Given the description of an element on the screen output the (x, y) to click on. 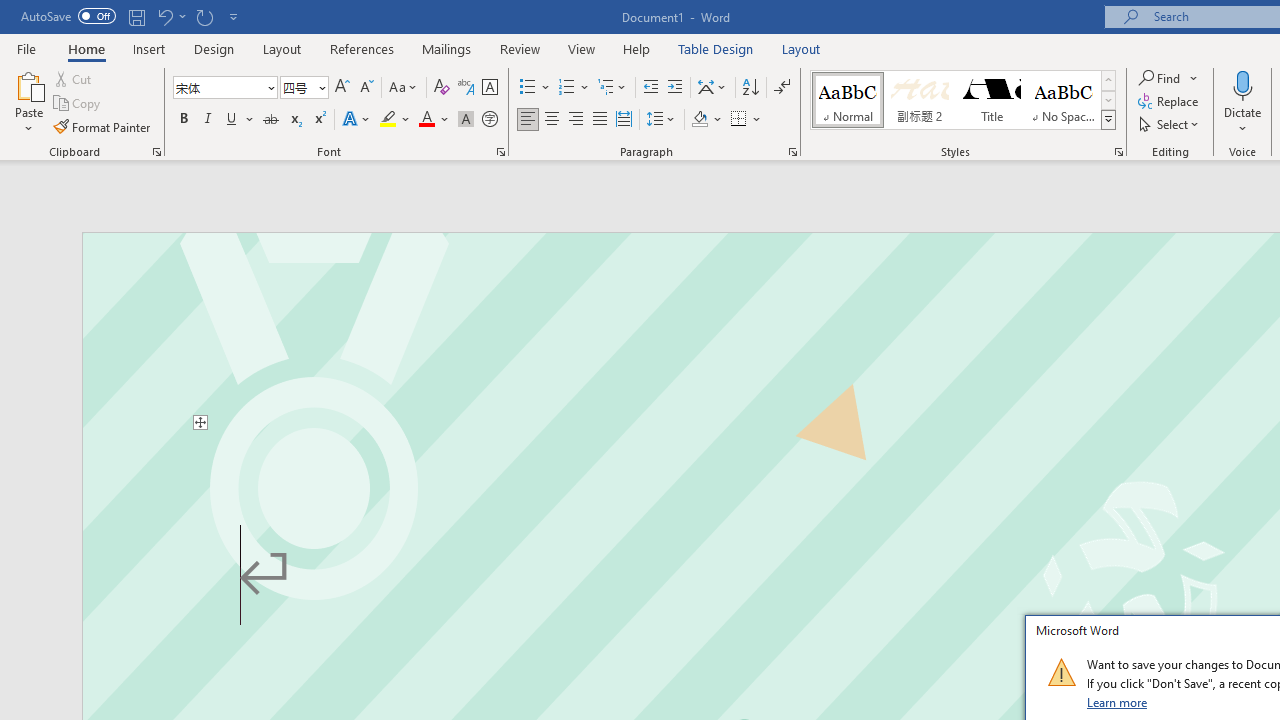
Title (991, 100)
Undo Text Fill Effect (164, 15)
